Given the description of an element on the screen output the (x, y) to click on. 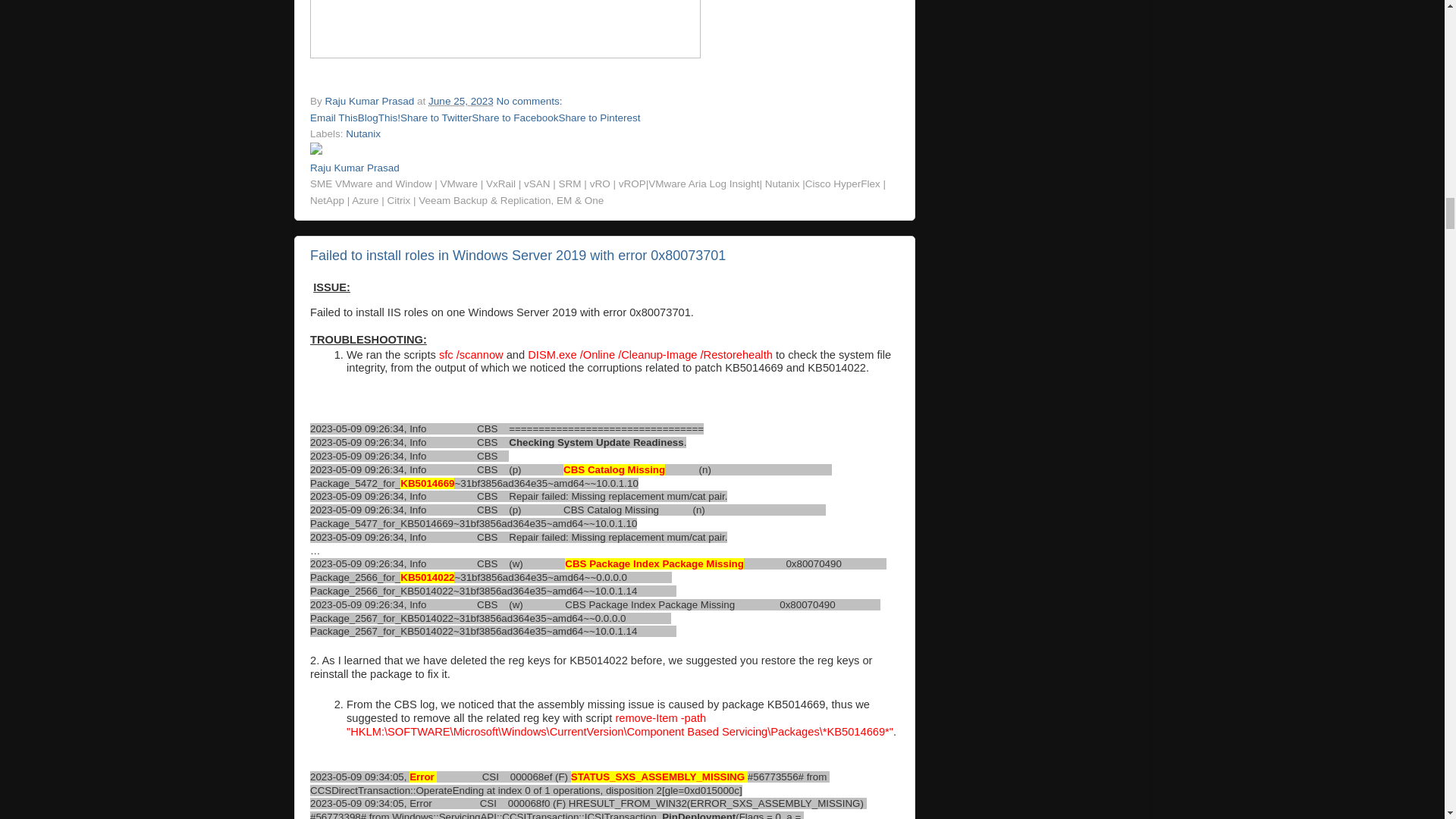
BlogThis! (379, 117)
No comments: (530, 101)
Share to Twitter (435, 117)
Nutanix (363, 133)
Share to Facebook (514, 117)
Share to Pinterest (598, 117)
permanent link (460, 101)
Share to Facebook (514, 117)
Email This (334, 117)
June 25, 2023 (460, 101)
Email Post (571, 101)
Share to Pinterest (598, 117)
Email This (334, 117)
BlogThis! (379, 117)
author profile (370, 101)
